Given the description of an element on the screen output the (x, y) to click on. 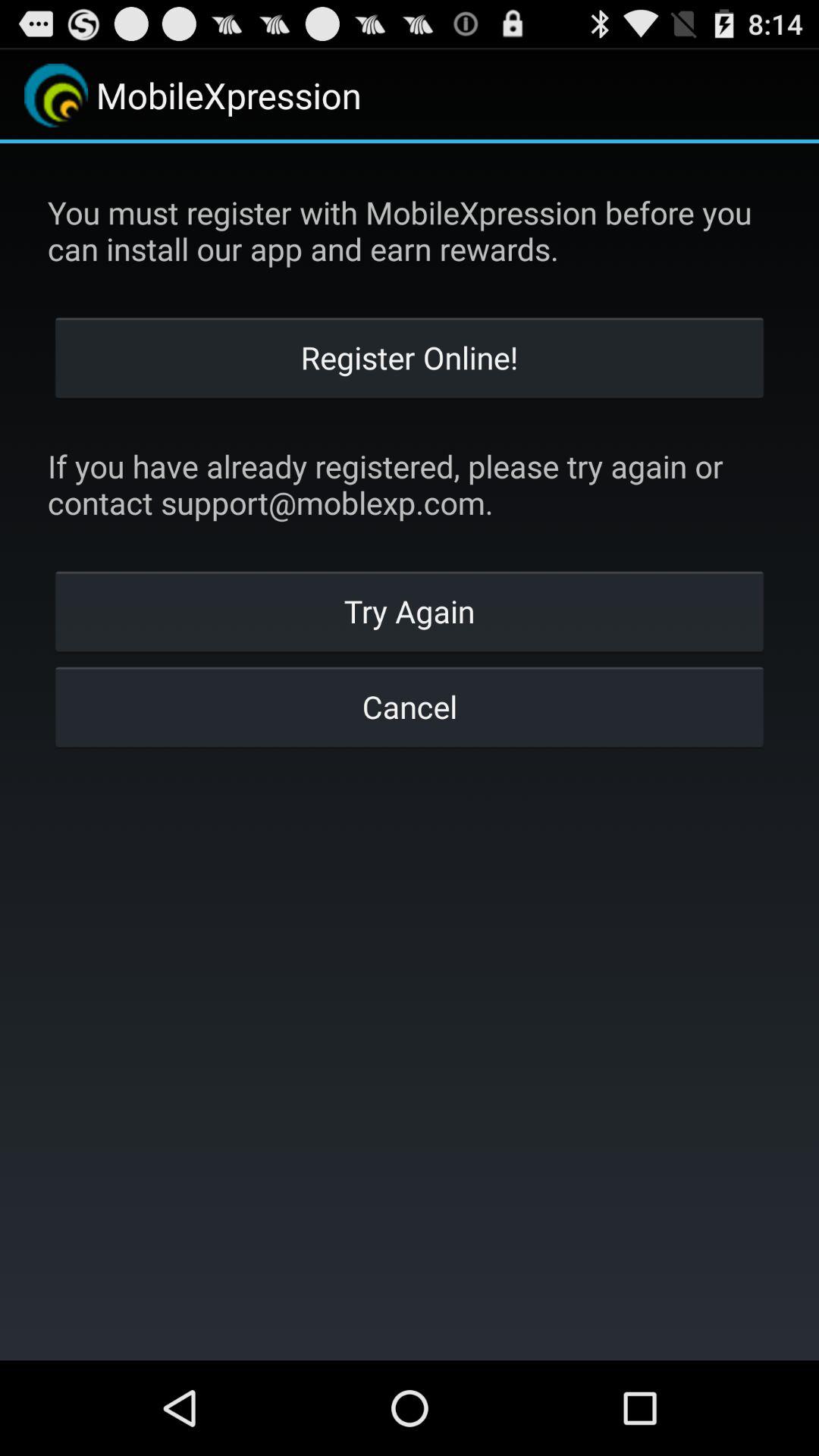
jump until register online! (409, 356)
